Given the description of an element on the screen output the (x, y) to click on. 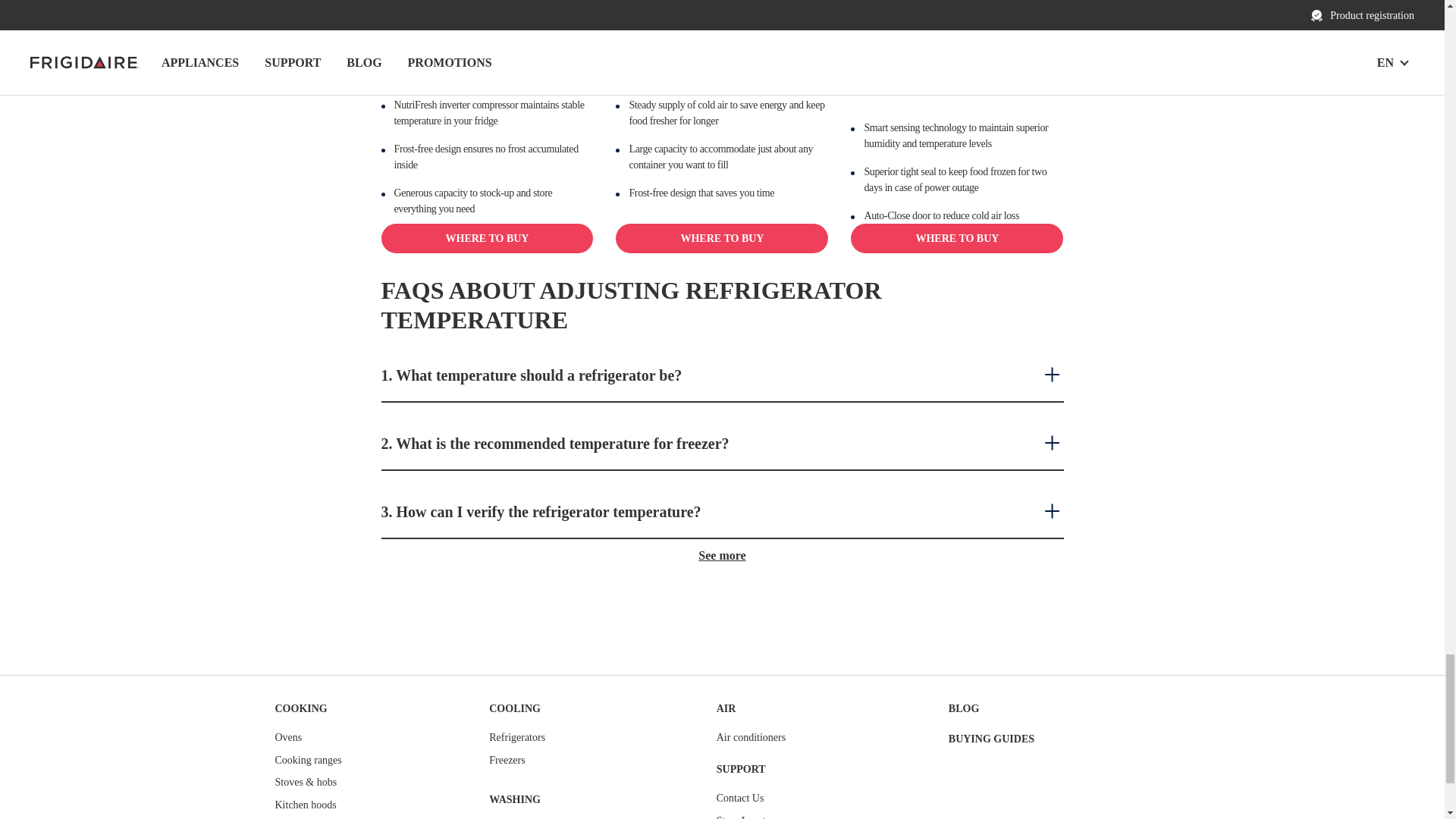
547L SINGLE DOOR REFRIGERATOR - WHITE - 4-STAR ENERGY RATING (486, 15)
WHERE TO BUY (486, 238)
